Given the description of an element on the screen output the (x, y) to click on. 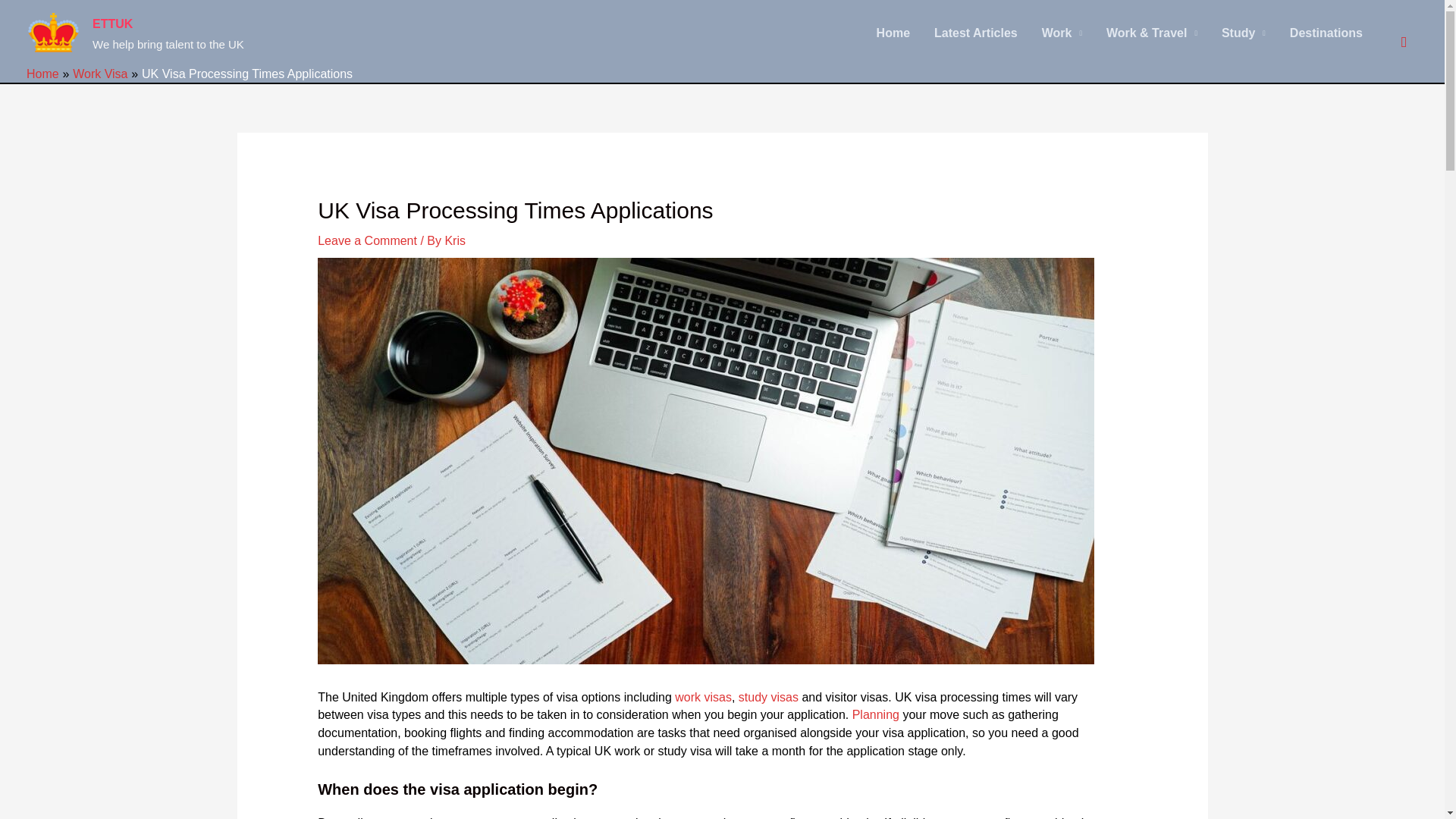
Work Visa (100, 72)
Work (1061, 32)
Destinations (1326, 32)
Home (892, 32)
View all posts by Kris (454, 240)
Home (42, 72)
Study (1243, 32)
ETTUK (112, 23)
Latest Articles (975, 32)
Search (1403, 41)
